Given the description of an element on the screen output the (x, y) to click on. 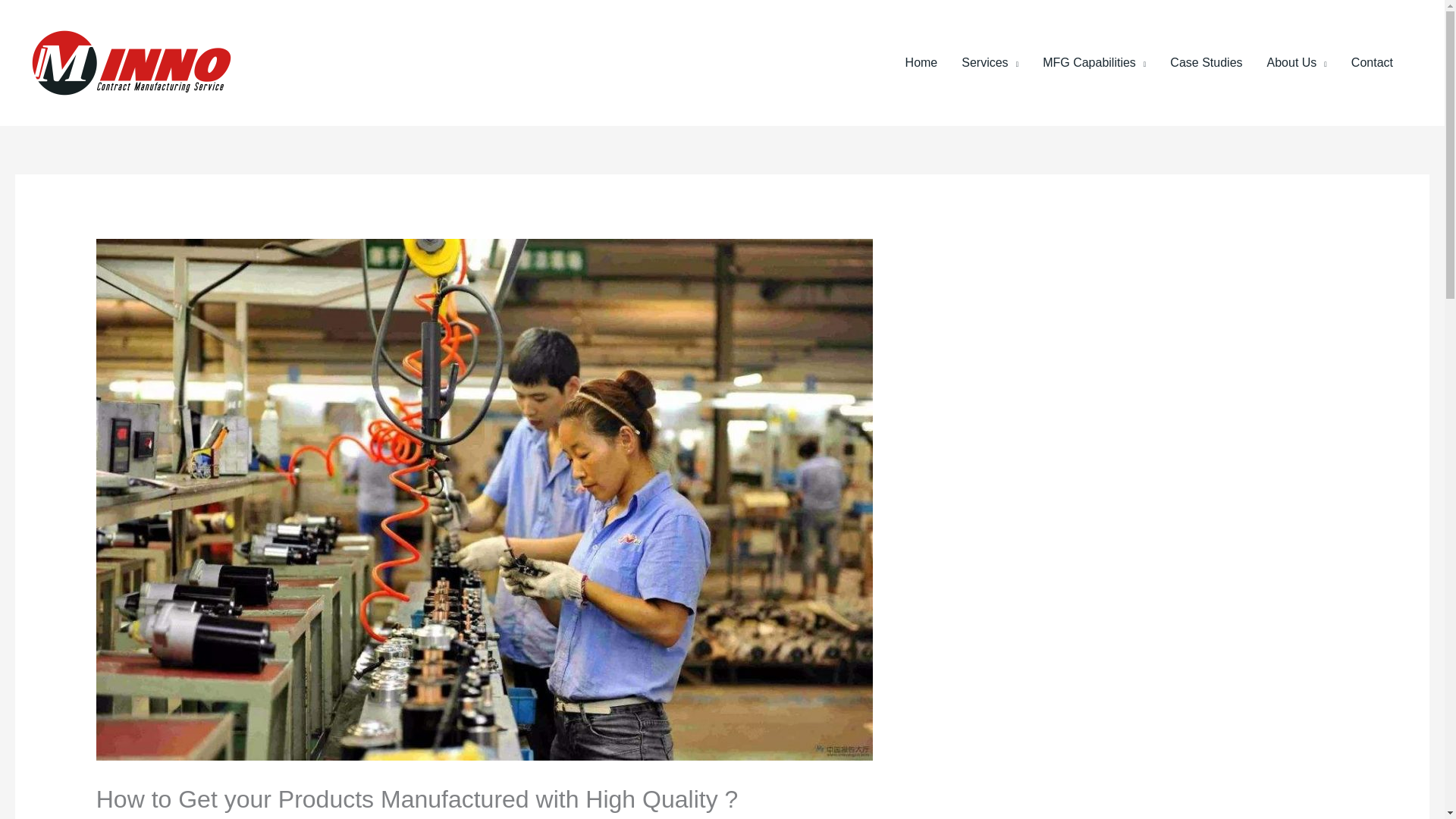
Case Studies (1205, 62)
About Us (1297, 62)
Services (989, 62)
MFG Capabilities (1093, 62)
Home (921, 62)
Contact (1372, 62)
